Given the description of an element on the screen output the (x, y) to click on. 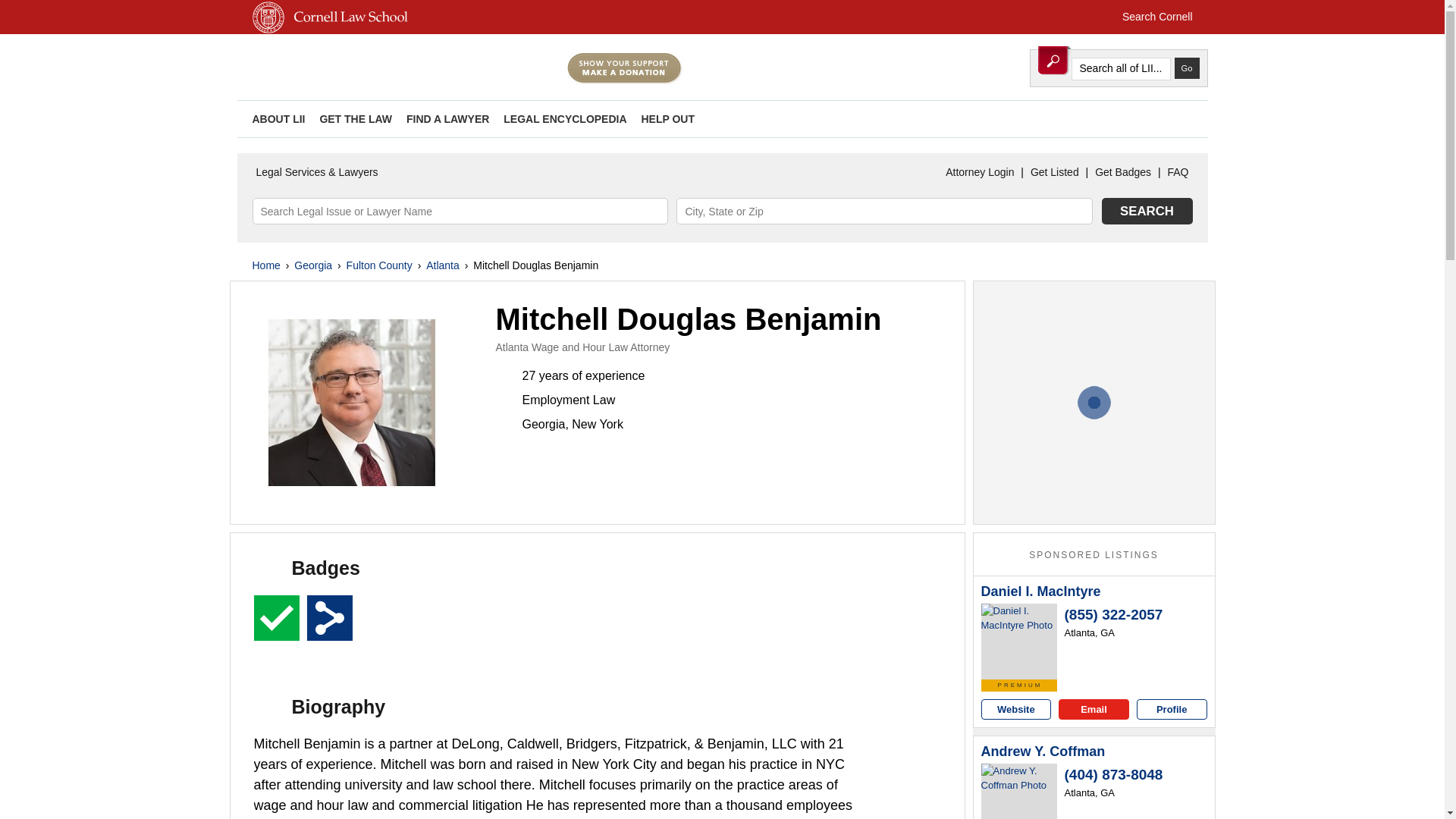
Home (265, 264)
Daniel I. MacIntyre (1040, 591)
FAQ (1177, 172)
Atlanta (443, 264)
Andrew Y. Coffman (1043, 751)
HELP OUT (667, 119)
ABOUT LII (277, 119)
FIND A LAWYER (447, 119)
Fulton County (379, 264)
facebook like (1173, 118)
